Given the description of an element on the screen output the (x, y) to click on. 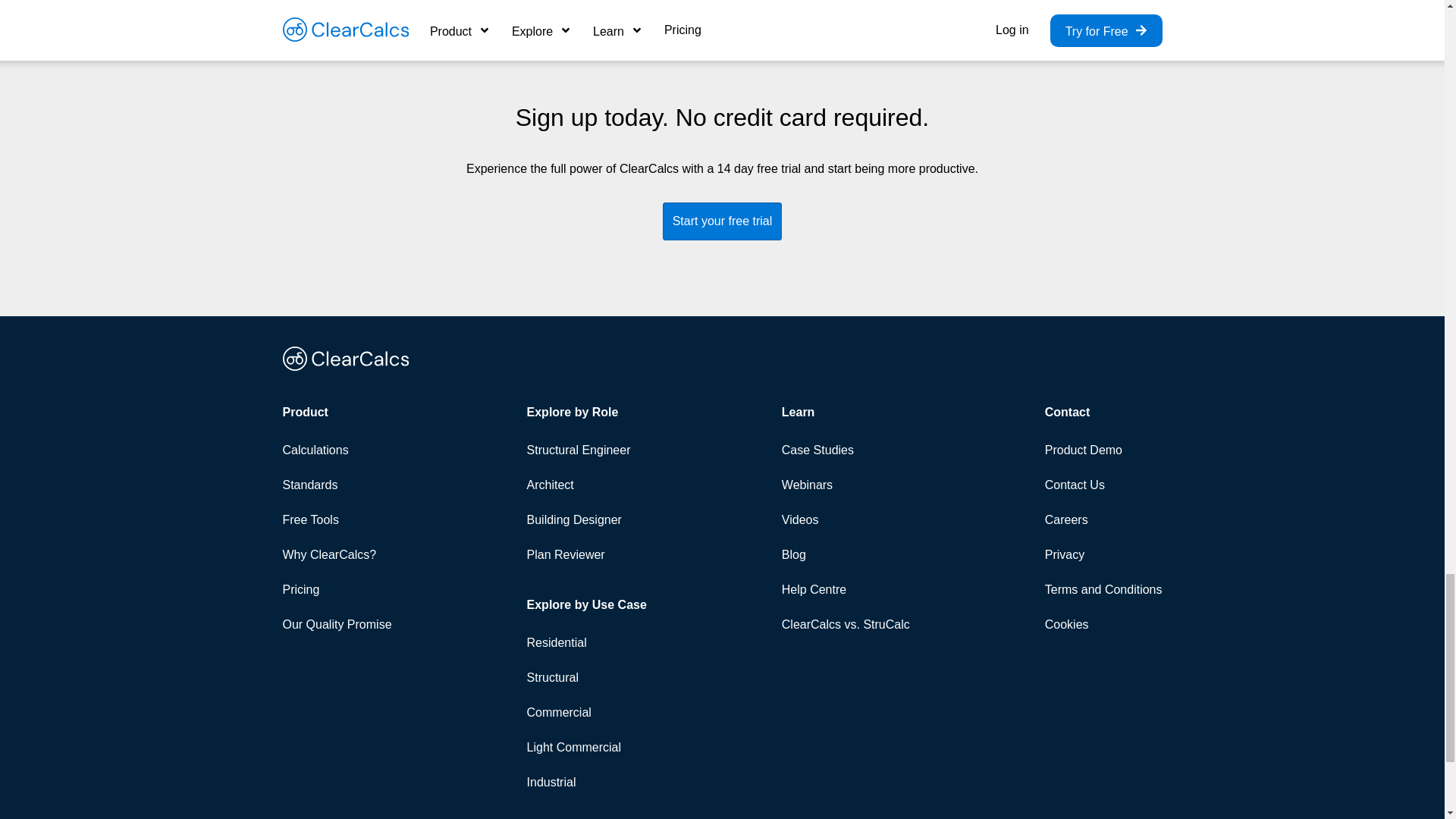
Calculations (336, 450)
Standards (336, 485)
Pricing (336, 589)
Why ClearCalcs? (336, 554)
Our Quality Promise (336, 624)
Start your free trial (722, 221)
Free Tools (336, 520)
Structural Engineer (586, 450)
